Given the description of an element on the screen output the (x, y) to click on. 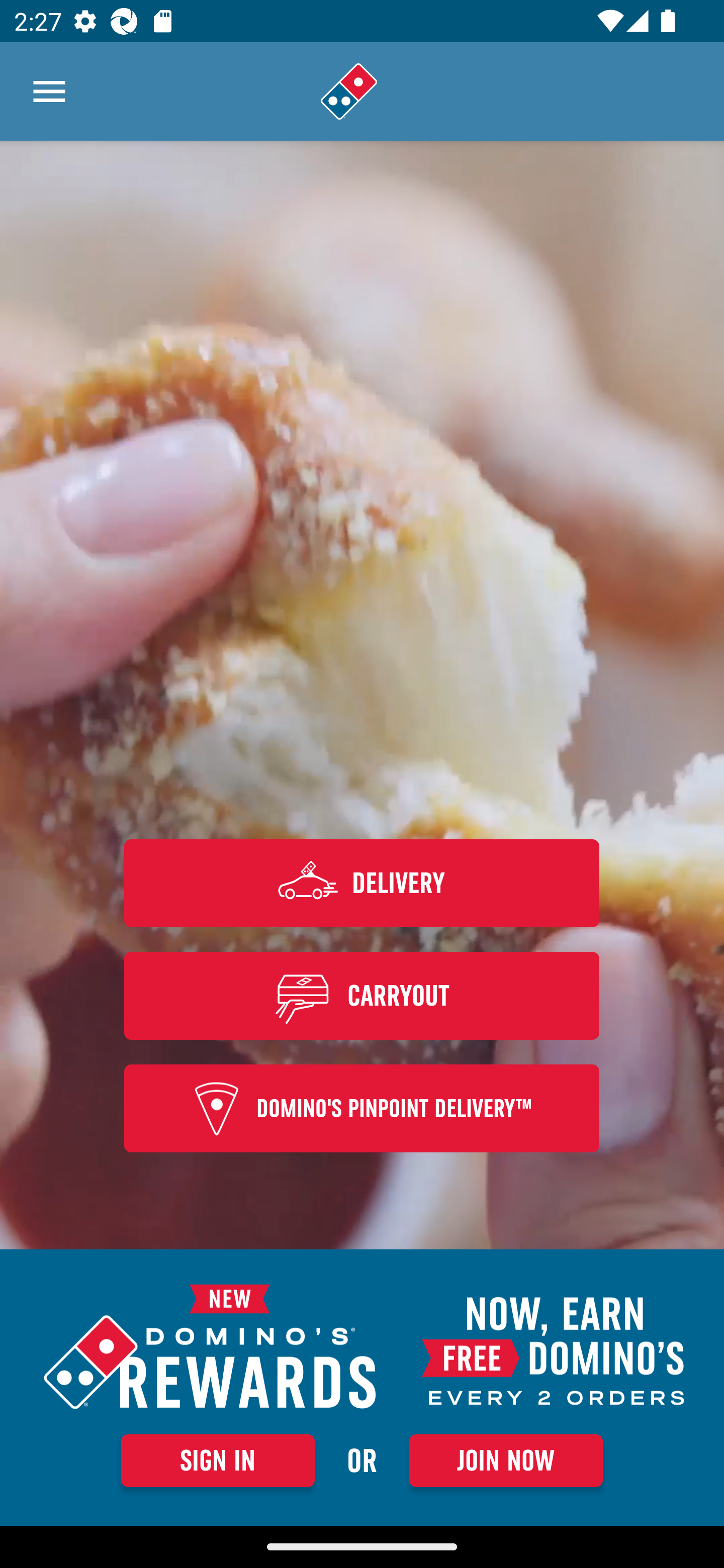
Expand Menu (49, 91)
DELIVERY (361, 882)
CARRYOUT (361, 995)
DOMINO'S PINPOINT DELIVERY™ (361, 1108)
SIGN IN (217, 1460)
JOIN NOW (506, 1460)
